Given the description of an element on the screen output the (x, y) to click on. 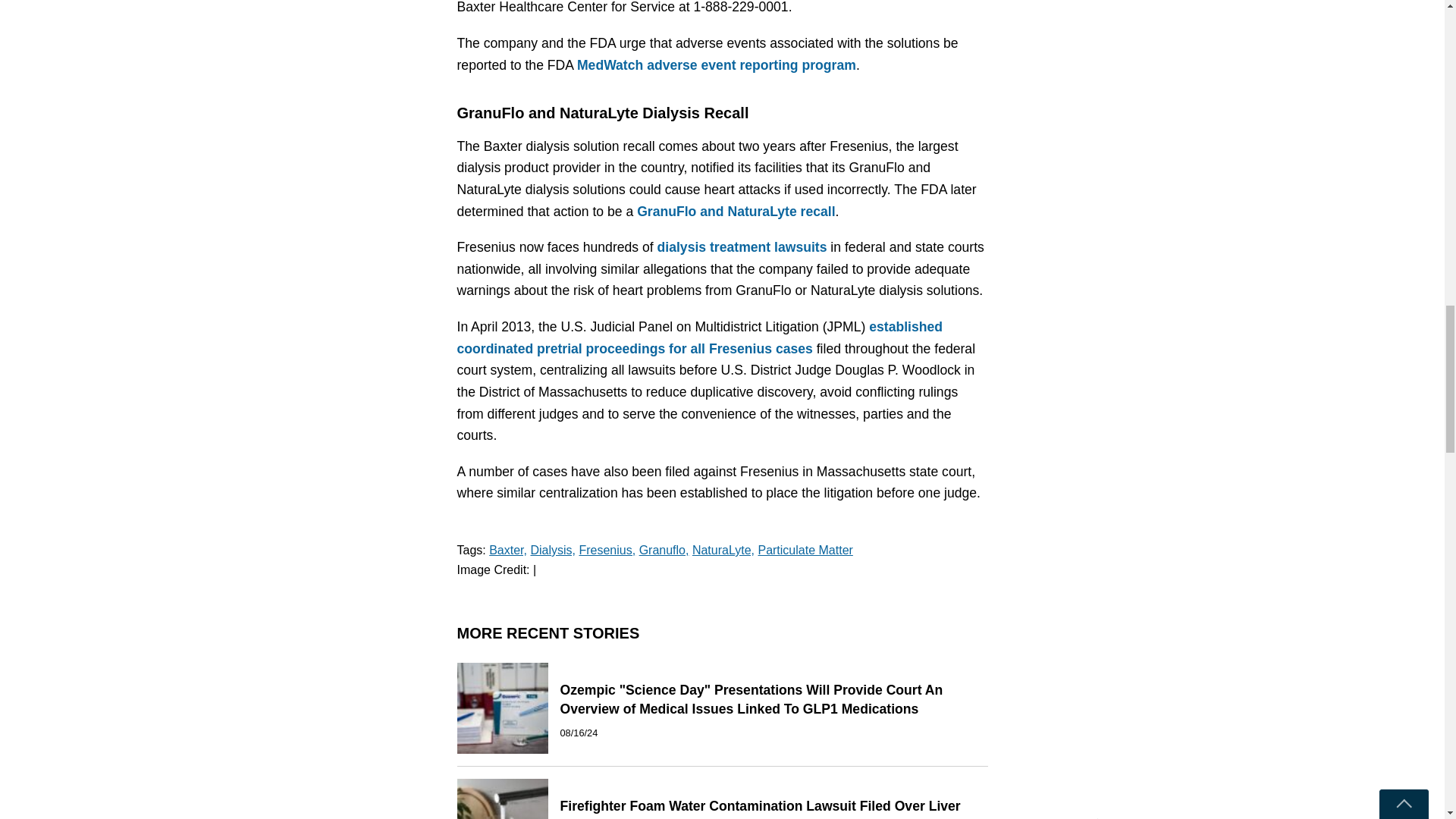
GranuFlo and NaturaLyte recall (735, 211)
Baxter, (508, 549)
MedWatch adverse event reporting program (716, 64)
dialysis treatment lawsuits (742, 246)
Dialysis, (552, 549)
Fresenius, (606, 549)
